Given the description of an element on the screen output the (x, y) to click on. 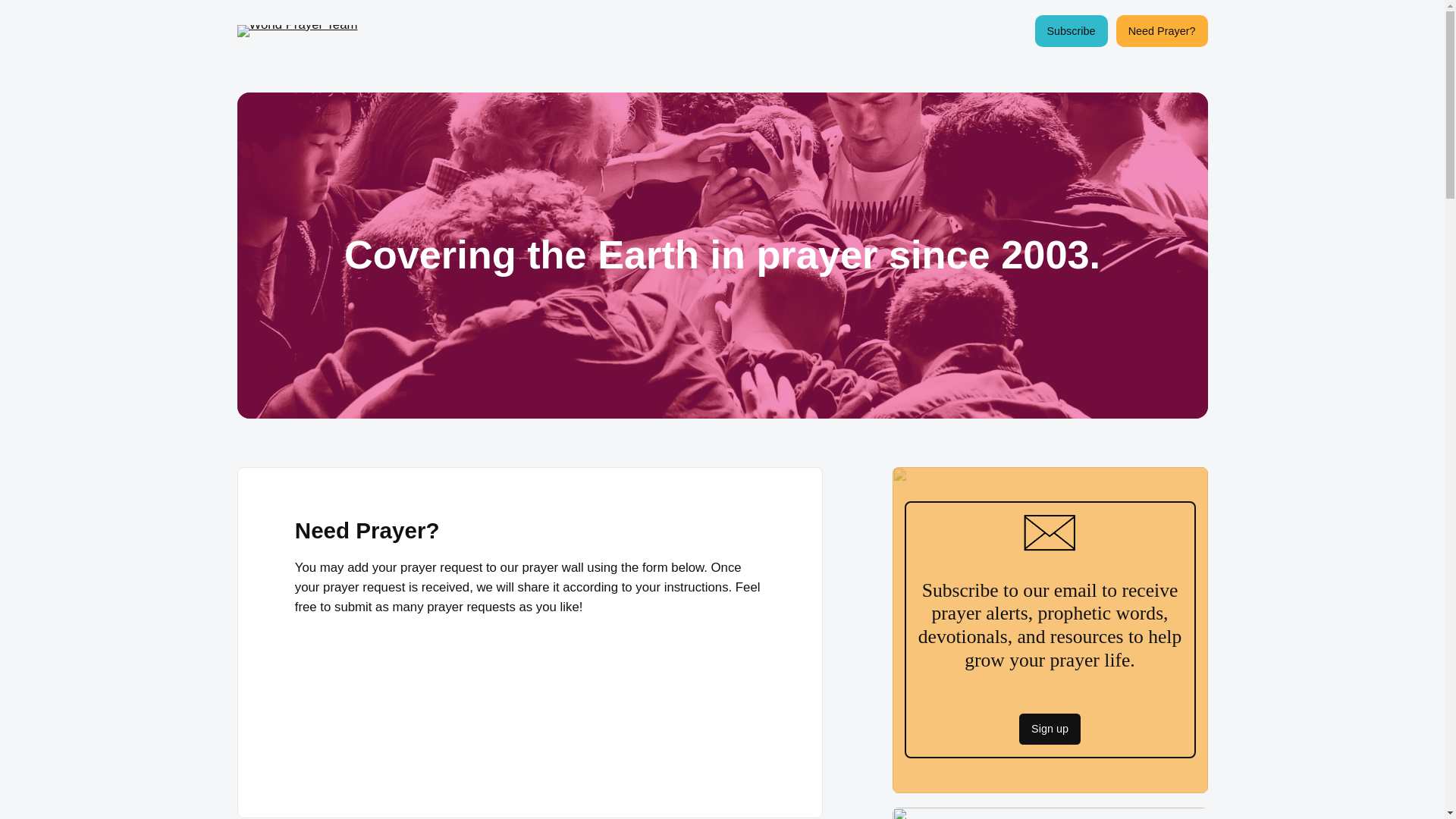
Subscribe (1071, 30)
Need Prayer? (1162, 30)
Sign up (1049, 729)
